Given the description of an element on the screen output the (x, y) to click on. 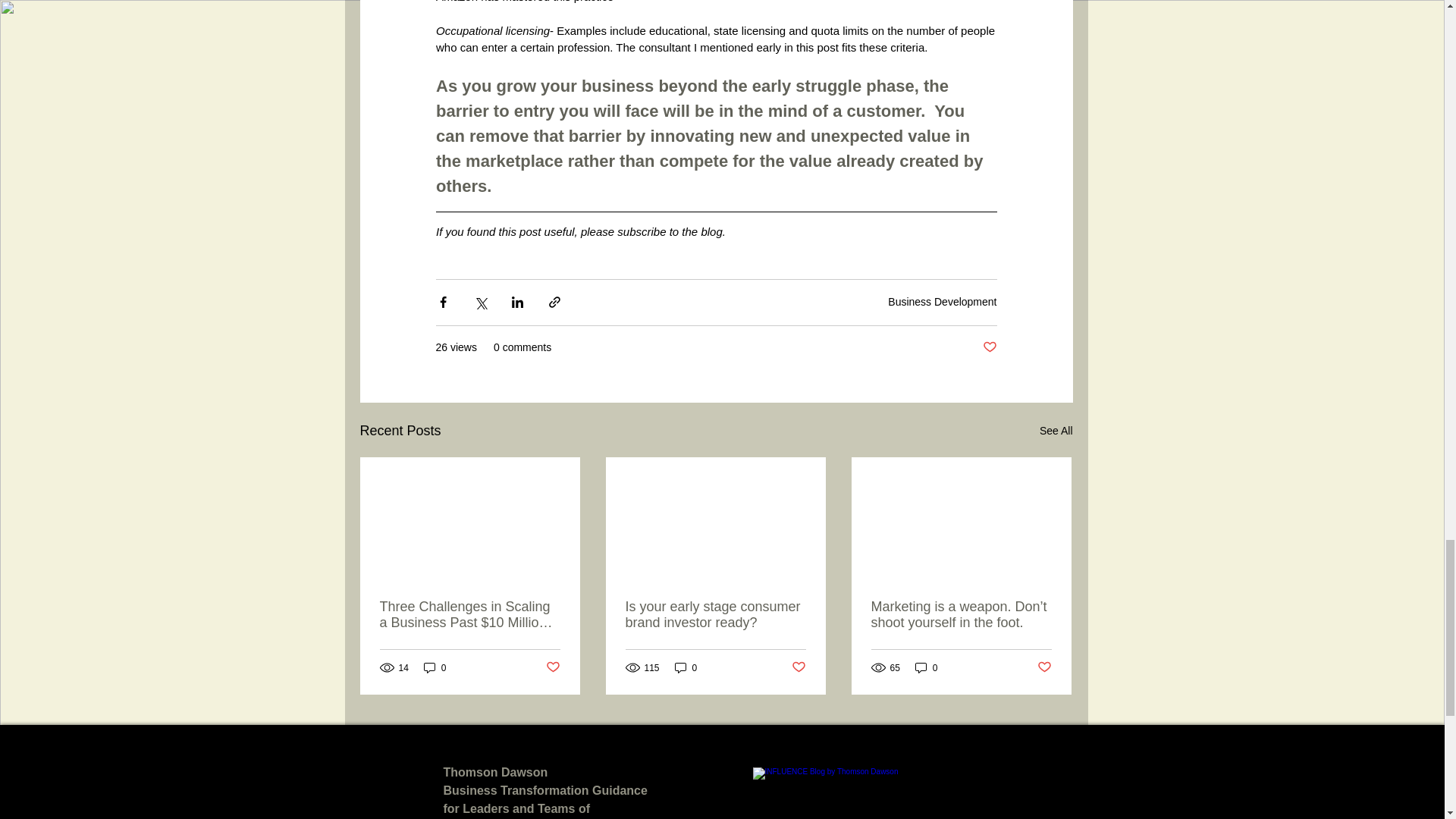
Is your early stage consumer brand investor ready? (714, 614)
Business Development (941, 301)
0 (685, 667)
Post not marked as liked (799, 667)
0 (926, 667)
Post not marked as liked (989, 347)
0 (435, 667)
See All (1056, 431)
Post not marked as liked (1043, 667)
Post not marked as liked (553, 667)
